Given the description of an element on the screen output the (x, y) to click on. 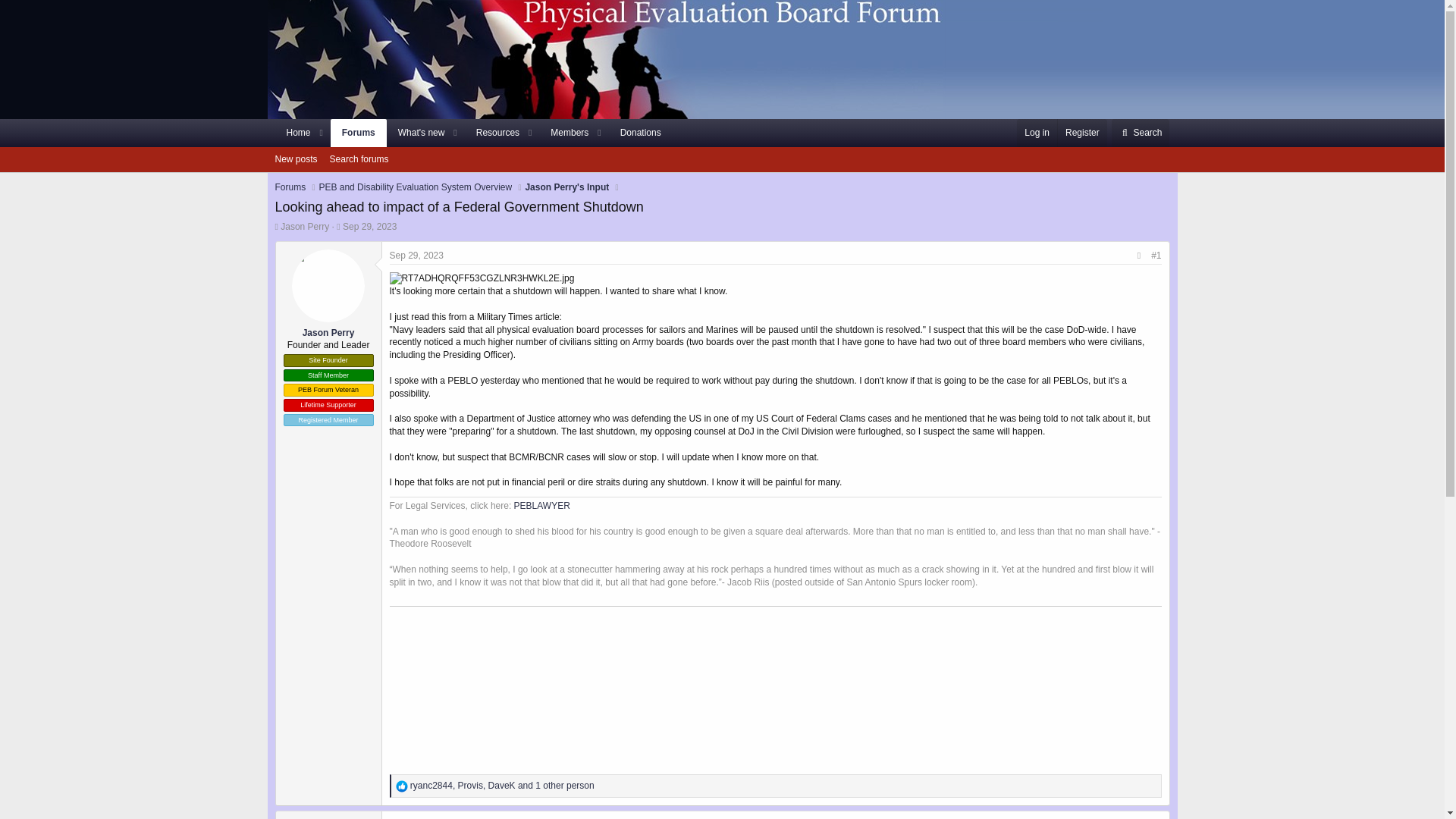
Home (293, 132)
Sep 29, 2023 at 10:12 PM (417, 255)
Register (472, 132)
What's new (1081, 132)
Like (416, 132)
Members (401, 786)
RT7ADHQRQFF53CGZLNR3HWKL2E.jpg (563, 132)
New posts (482, 278)
GettyImages-1745433620.jpg (295, 159)
